Given the description of an element on the screen output the (x, y) to click on. 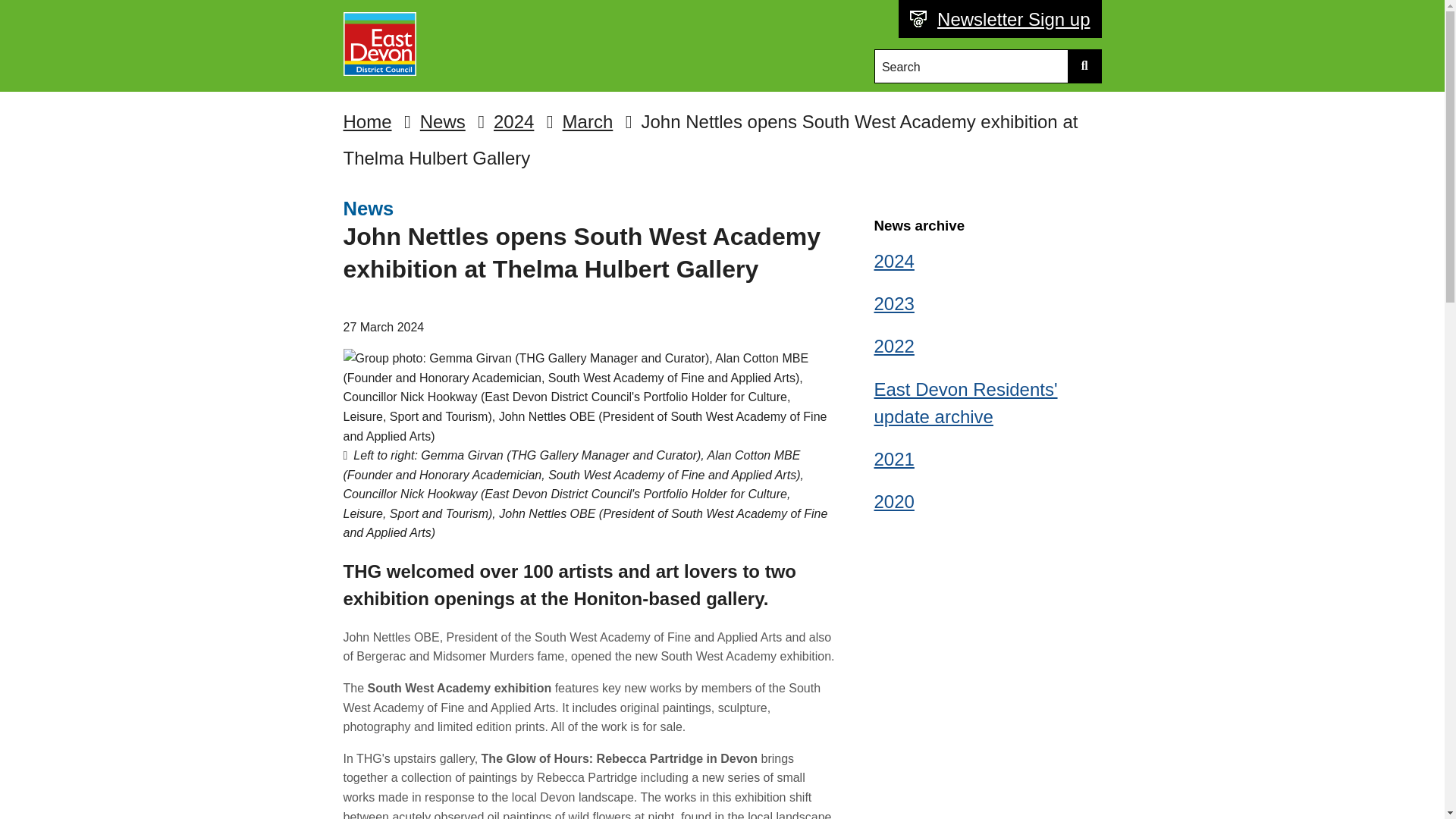
Newsletter Sign up (1008, 20)
2024 (513, 121)
2023 (986, 303)
March (587, 121)
2021 (986, 459)
2022 (986, 347)
East Devon Residents' update archive (986, 403)
Search (971, 66)
2020 (986, 501)
2024 (986, 261)
